Given the description of an element on the screen output the (x, y) to click on. 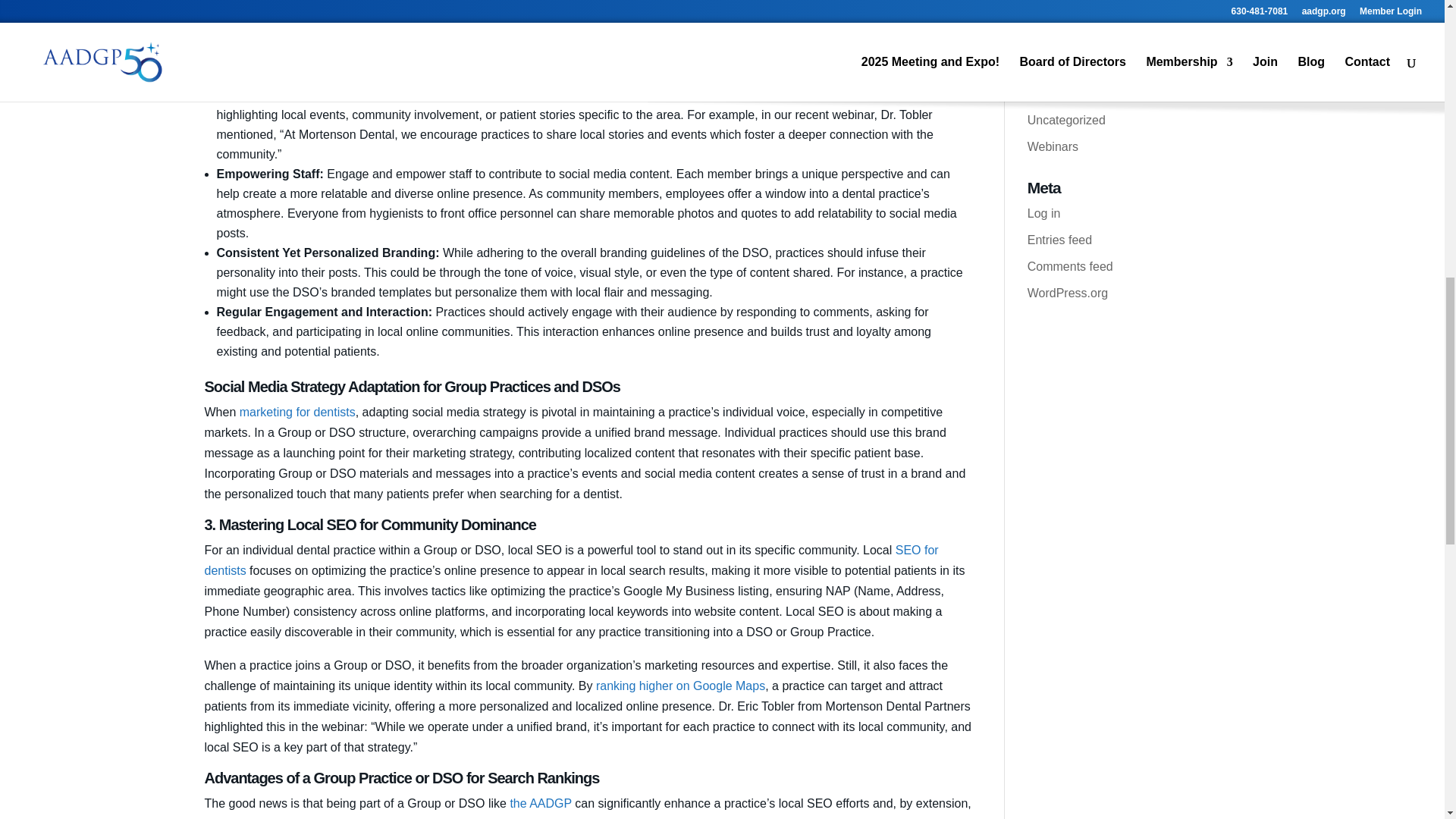
the AADGP (540, 802)
marketing for dentists (297, 411)
SEO for dentists (572, 560)
Social media for dental service organizations (559, 42)
ranking higher on Google Maps (680, 685)
Dental SEO for DSOs (409, 818)
